Given the description of an element on the screen output the (x, y) to click on. 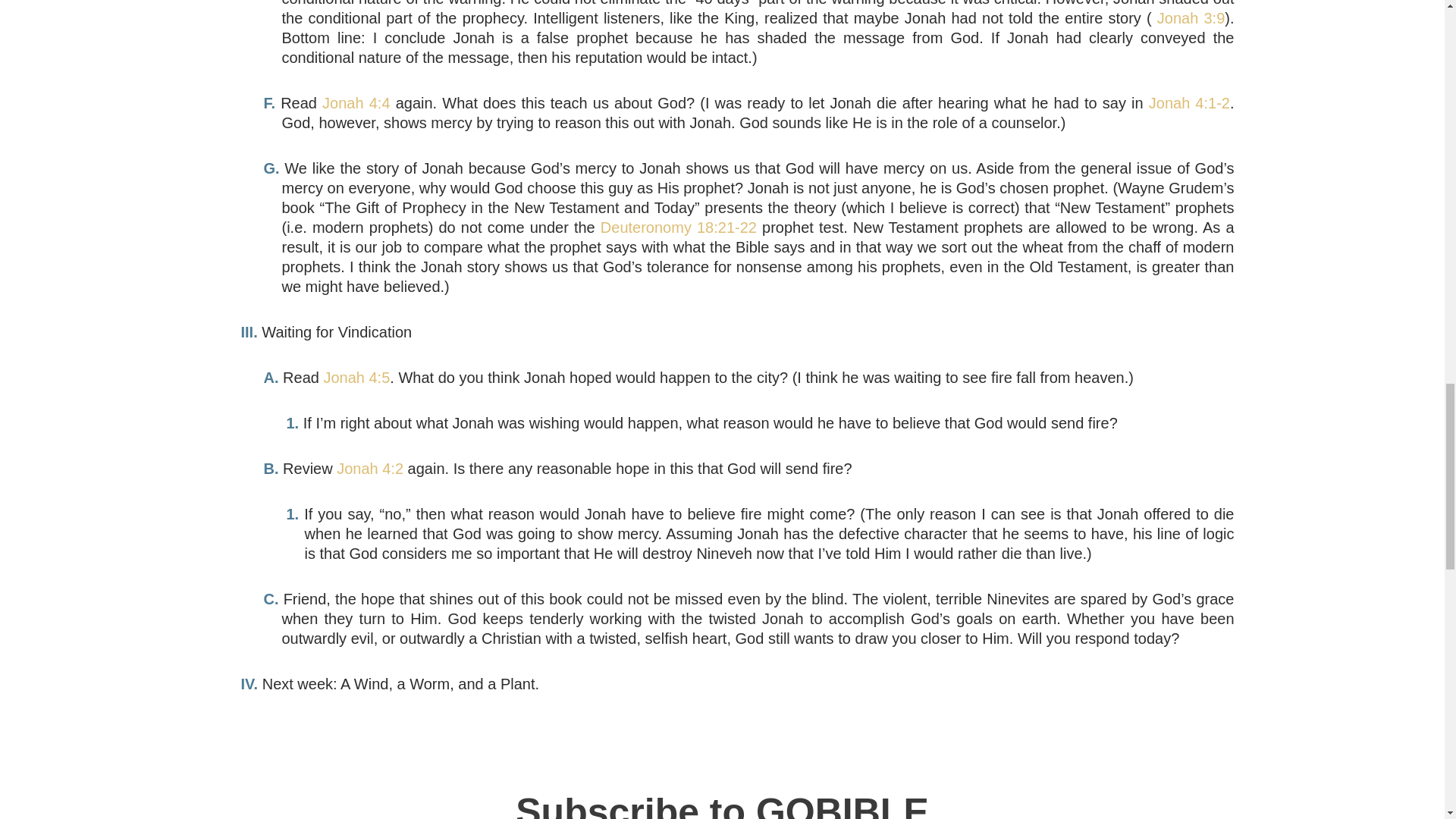
Deuteronomy 18:21-22 (678, 227)
Jonah 4:1-2 (1189, 103)
Jonah 4:5 (356, 377)
Jonah 4:4 (355, 103)
Jonah 4:2 (369, 468)
Jonah 3:9 (1188, 17)
